Given the description of an element on the screen output the (x, y) to click on. 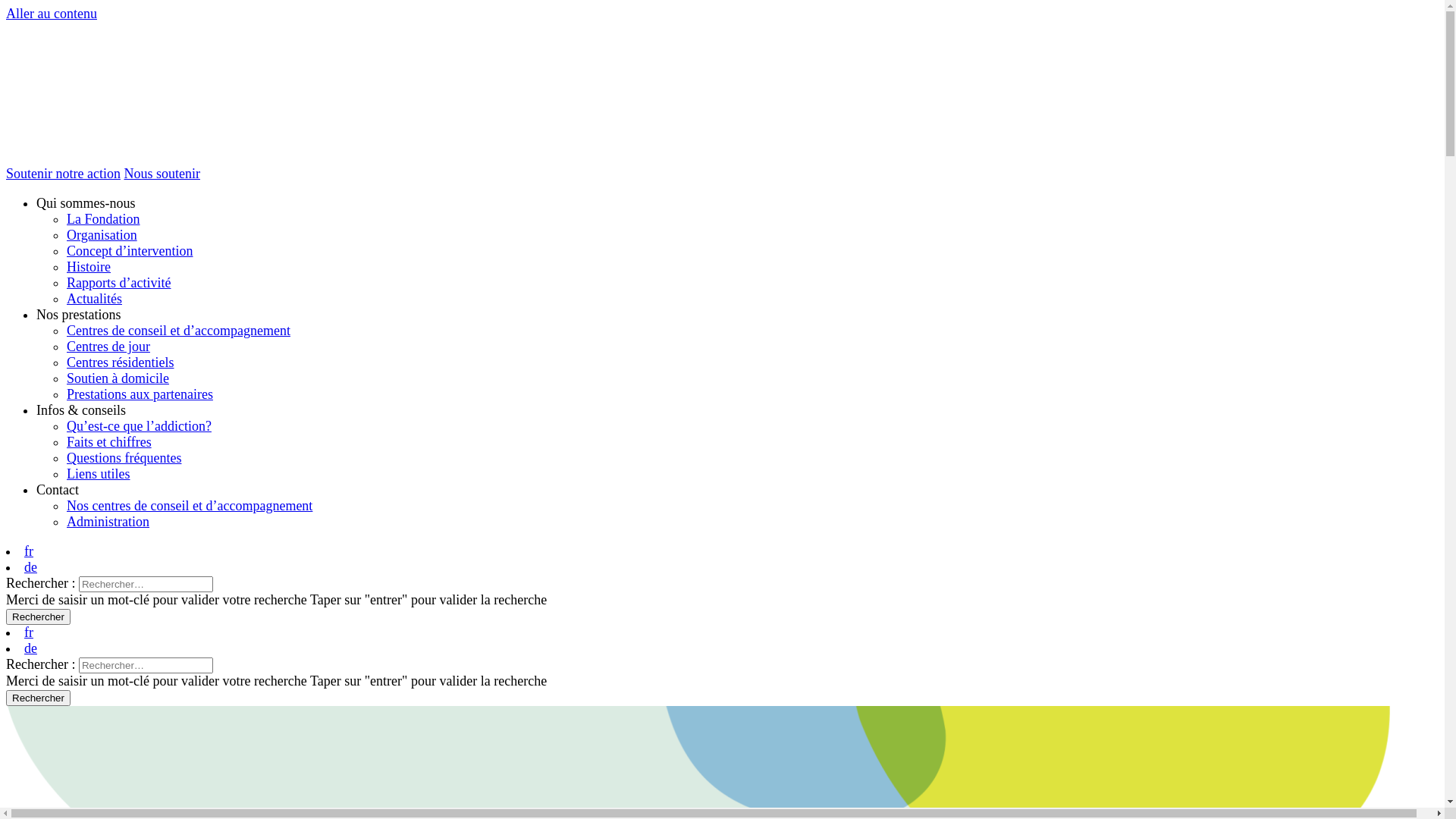
Rechercher Element type: text (38, 698)
Soutenir notre action Element type: text (63, 173)
Faits et chiffres Element type: text (108, 441)
Infos & conseils Element type: text (80, 409)
Nos prestations Element type: text (78, 314)
Administration Element type: text (107, 521)
fr Element type: text (28, 550)
de Element type: text (30, 566)
Liens utiles Element type: text (98, 473)
Aller au contenu Element type: text (51, 13)
Histoire Element type: text (88, 266)
Centres de jour Element type: text (108, 346)
Rechercher Element type: text (38, 616)
Organisation Element type: text (101, 234)
fr Element type: text (28, 632)
La Fondation Element type: text (103, 218)
de Element type: text (30, 647)
Qui sommes-nous Element type: text (85, 202)
Nous soutenir Element type: text (161, 173)
Contact Element type: text (57, 489)
Prestations aux partenaires Element type: text (139, 393)
